Given the description of an element on the screen output the (x, y) to click on. 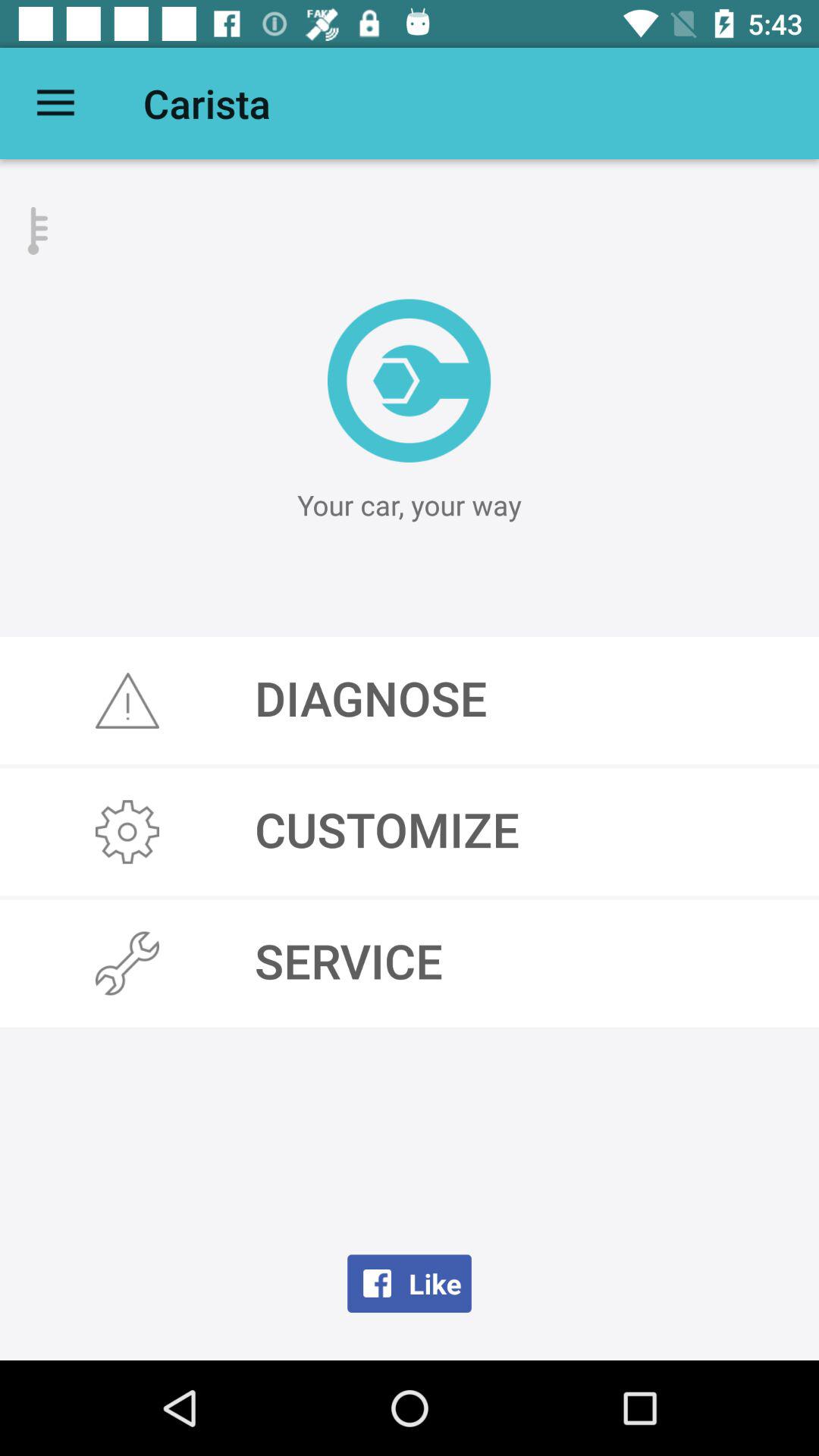
open the service (409, 963)
